Given the description of an element on the screen output the (x, y) to click on. 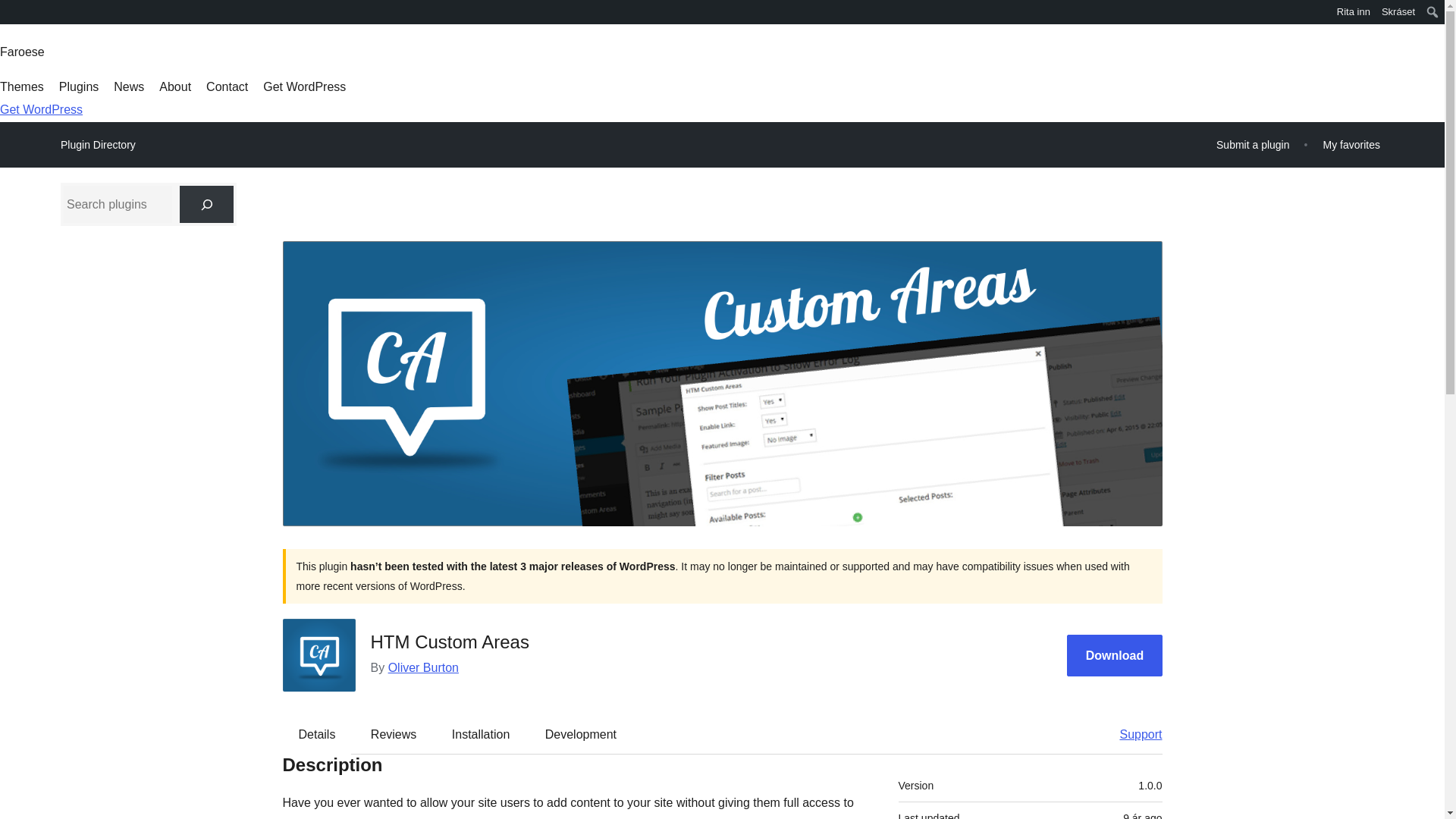
Support (1132, 733)
Download (1114, 655)
Submit a plugin (1253, 144)
Development (580, 733)
WordPress.org (10, 16)
News (128, 87)
WordPress.org (10, 10)
Plugins (79, 87)
Leita (12, 13)
Get WordPress (41, 109)
